Given the description of an element on the screen output the (x, y) to click on. 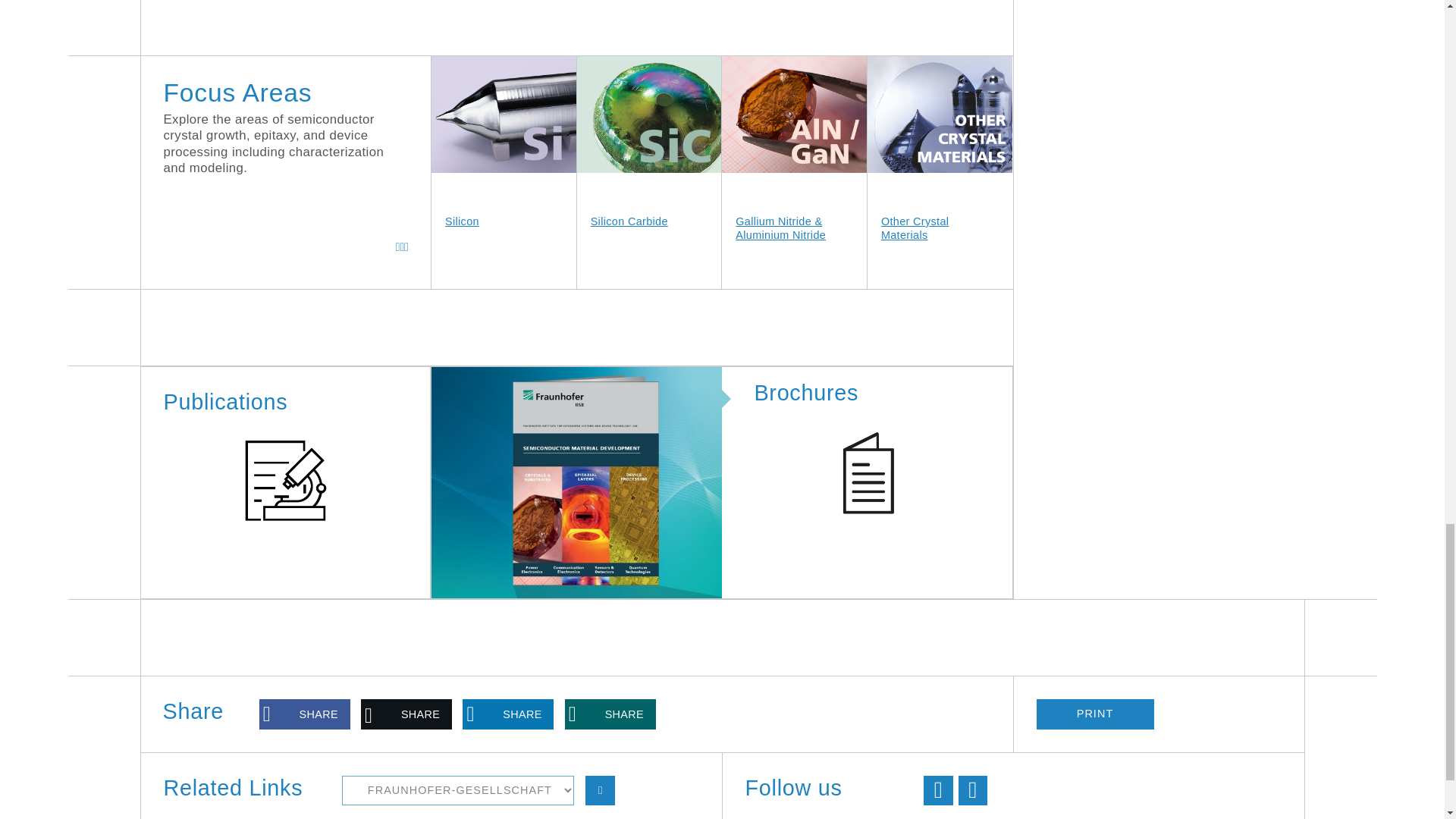
Share on XING (610, 714)
Share on Facebook (304, 714)
Share on X (406, 714)
Share on LinkedIn (508, 714)
